Given the description of an element on the screen output the (x, y) to click on. 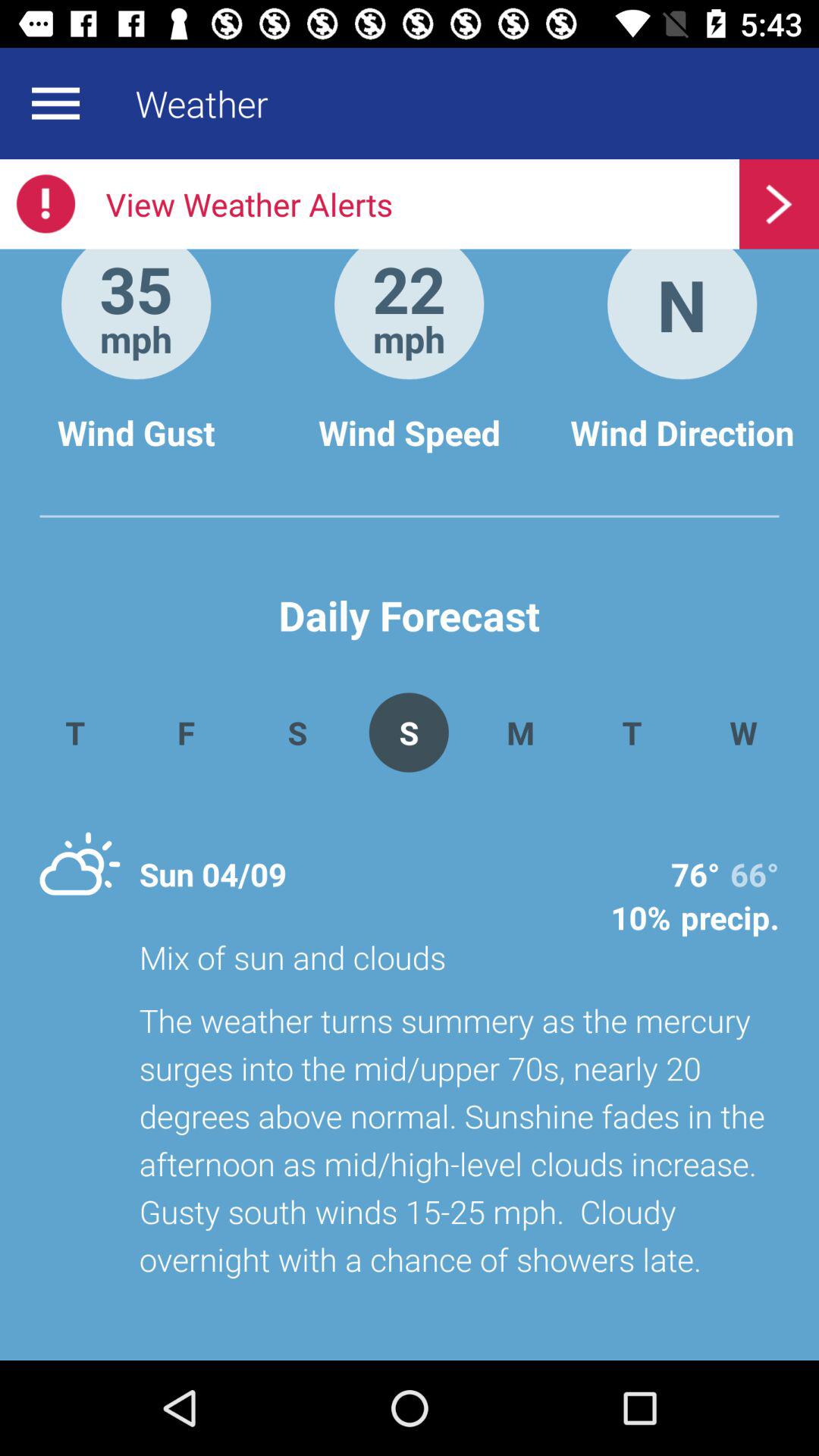
view menu (55, 103)
